Given the description of an element on the screen output the (x, y) to click on. 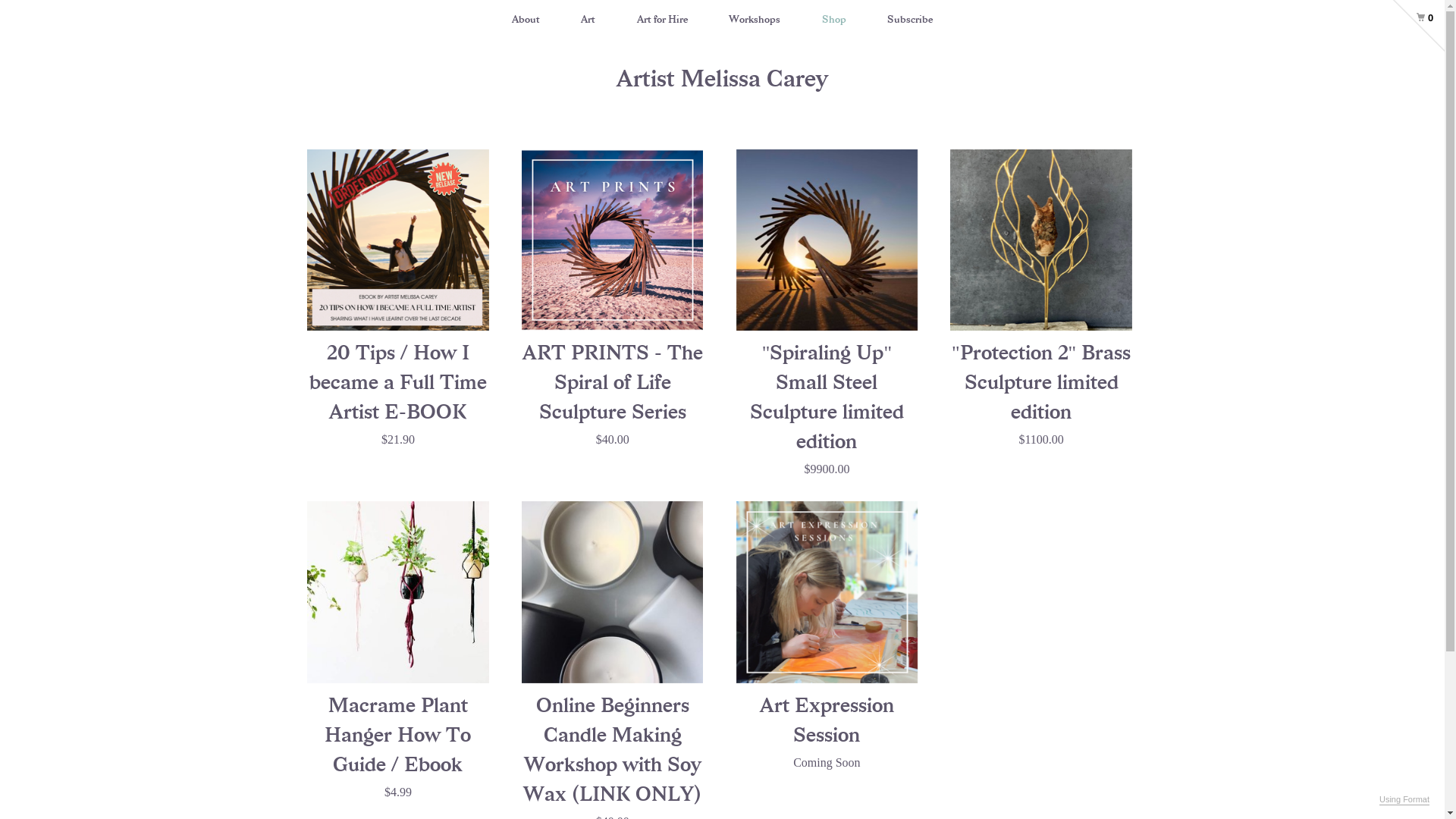
Art Element type: text (587, 19)
ART PRINTS - The Spiral of Life Sculpture Series
$40.00 Element type: text (611, 298)
Using Format Element type: text (1404, 799)
Artist Melissa Carey Element type: text (722, 78)
Macrame Plant Hanger How To Guide / Ebook
$4.99 Element type: text (397, 650)
Shop Element type: text (834, 19)
Art Expression Session
Coming Soon Element type: text (826, 636)
Subscribe Element type: text (909, 19)
0 Element type: text (1412, 11)
"Protection 2" Brass Sculpture limited edition
$1100.00 Element type: text (1040, 298)
About Element type: text (525, 19)
Art for Hire Element type: text (662, 19)
20 Tips / How I became a Full Time Artist E-BOOK
$21.90 Element type: text (397, 298)
Workshops Element type: text (754, 19)
